Given the description of an element on the screen output the (x, y) to click on. 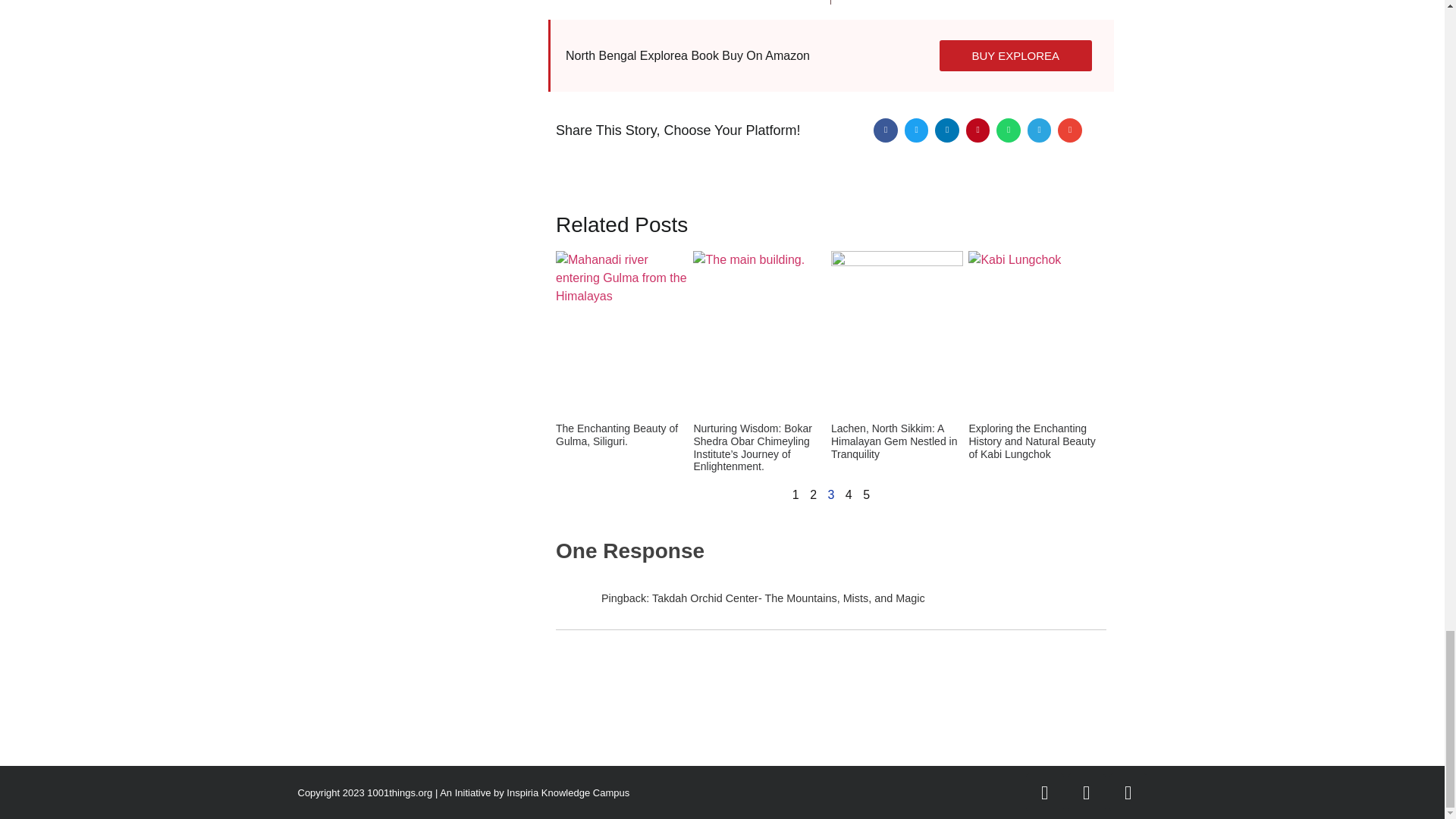
Lachen, North Sikkim: A Himalayan Gem Nestled in Tranquility (894, 441)
The Enchanting Beauty of Gulma, Siliguri. (688, 2)
BUY EXPLOREA (617, 434)
